Given the description of an element on the screen output the (x, y) to click on. 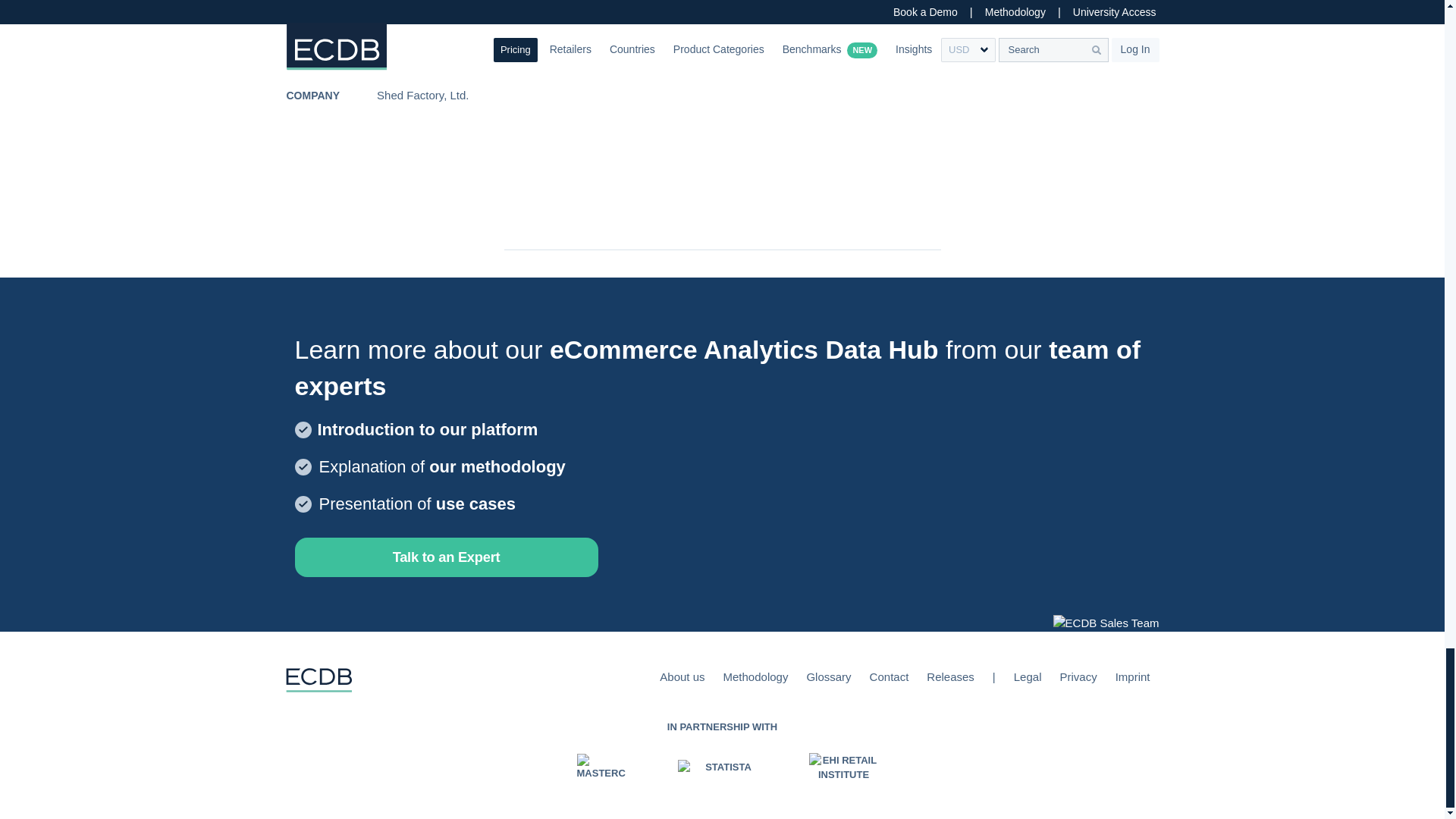
Statista (722, 767)
EHI Retail Institute (842, 767)
Mastercard (600, 767)
